Given the description of an element on the screen output the (x, y) to click on. 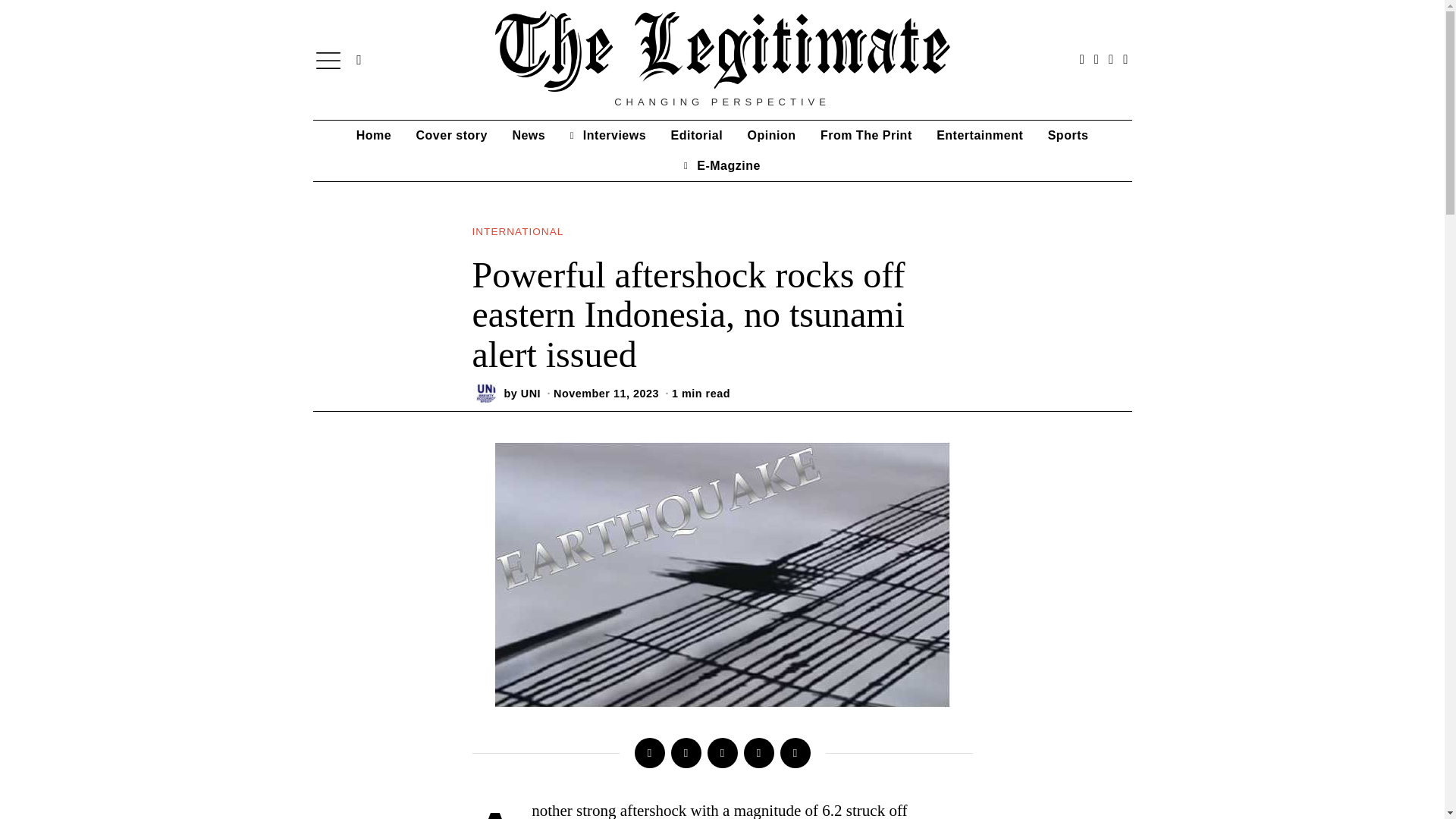
UNI (530, 393)
Twitter (684, 752)
INTERNATIONAL (517, 232)
Linkedin (721, 752)
Facebook (648, 752)
Cover story (451, 135)
Home (373, 135)
Email (793, 752)
Editorial (697, 135)
Opinion (771, 135)
Interviews (607, 135)
Whatsapp (757, 752)
Sports (1067, 135)
From The Print (866, 135)
E-Magzine (721, 165)
